Given the description of an element on the screen output the (x, y) to click on. 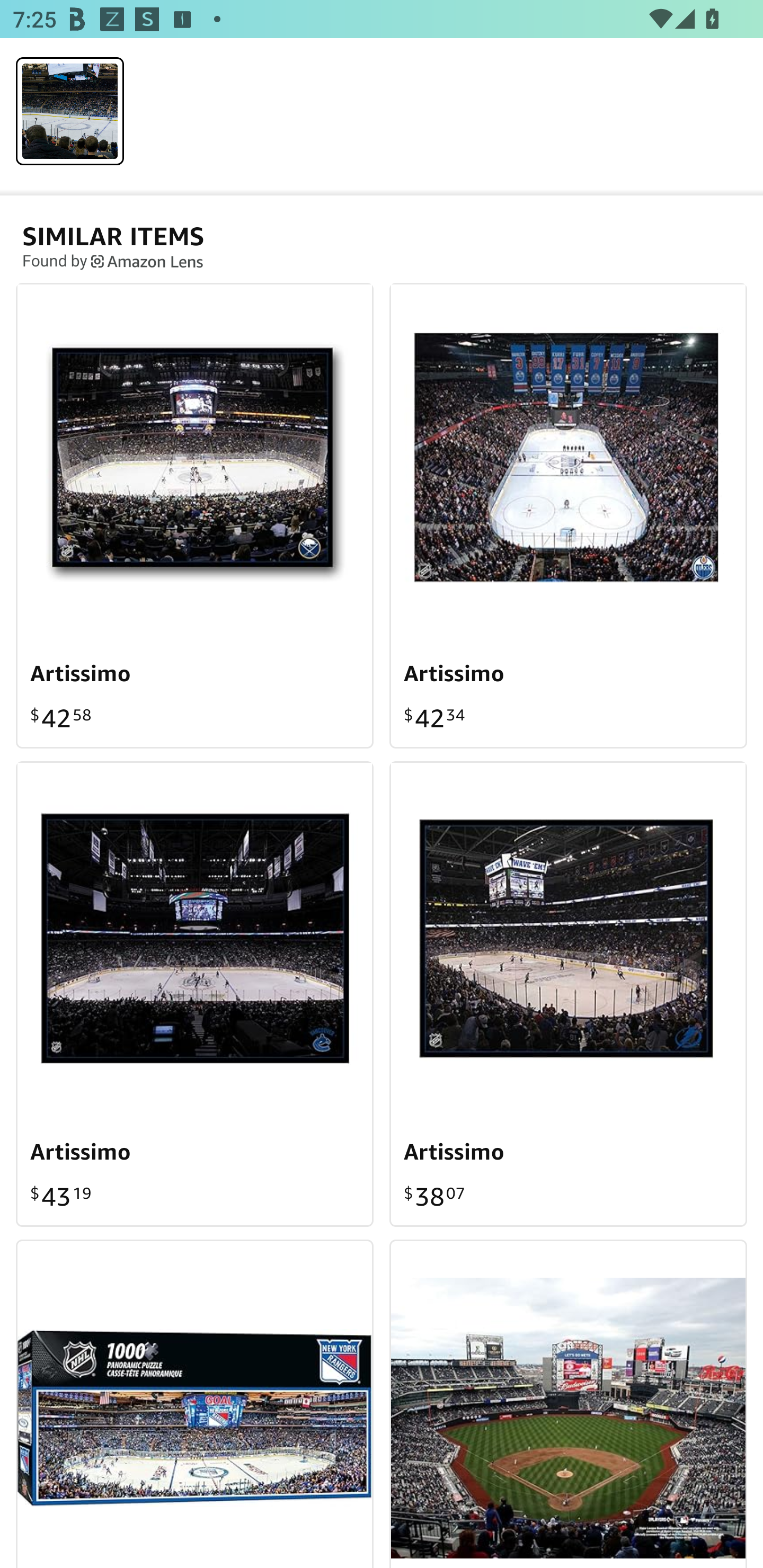
Artissimo $ 42 58 (194, 514)
Artissimo $ 42 34 (567, 514)
Artissimo $ 43 19 (194, 993)
Artissimo $ 38 07 (567, 993)
